Given the description of an element on the screen output the (x, y) to click on. 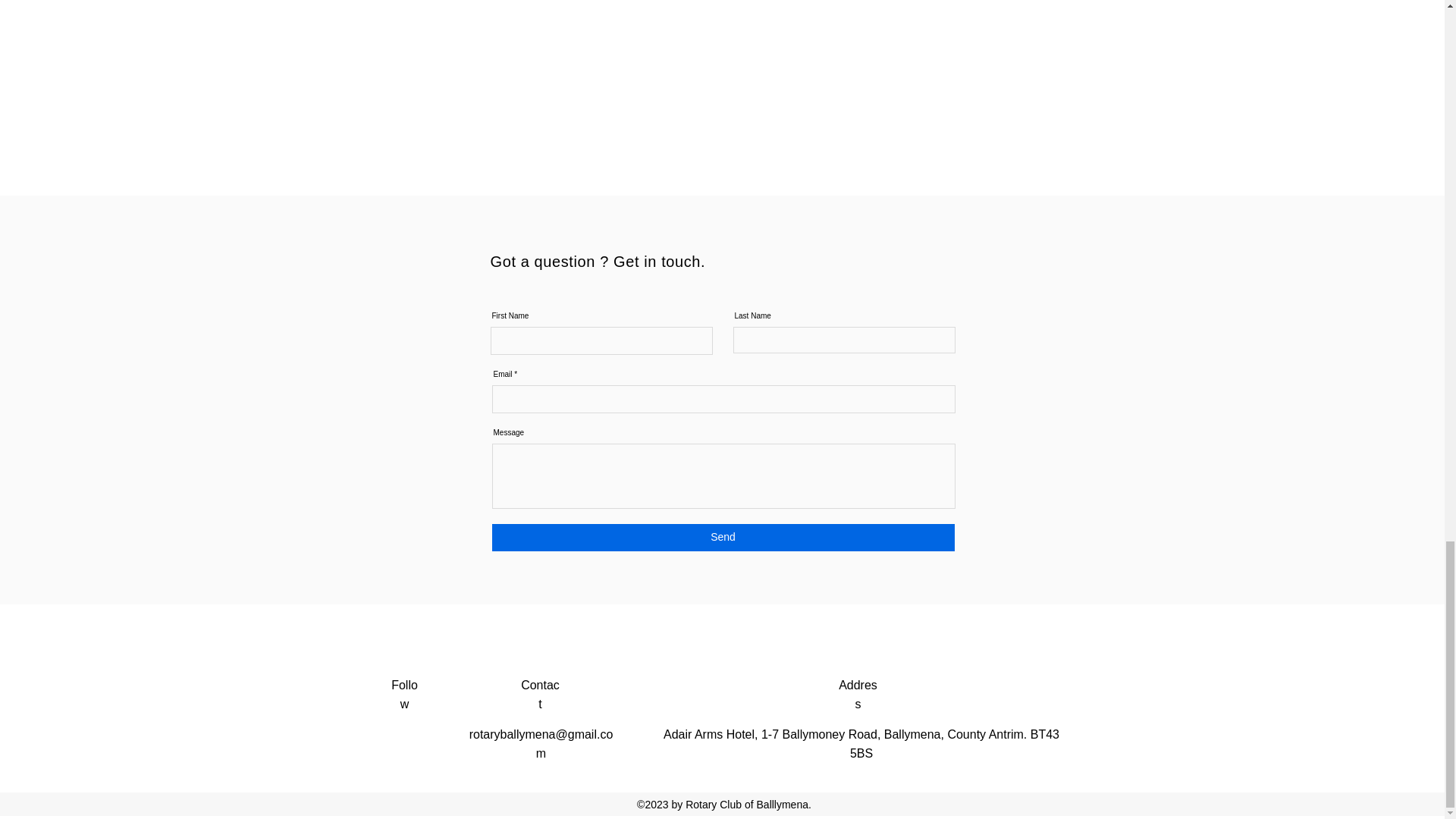
Send (722, 537)
